Given the description of an element on the screen output the (x, y) to click on. 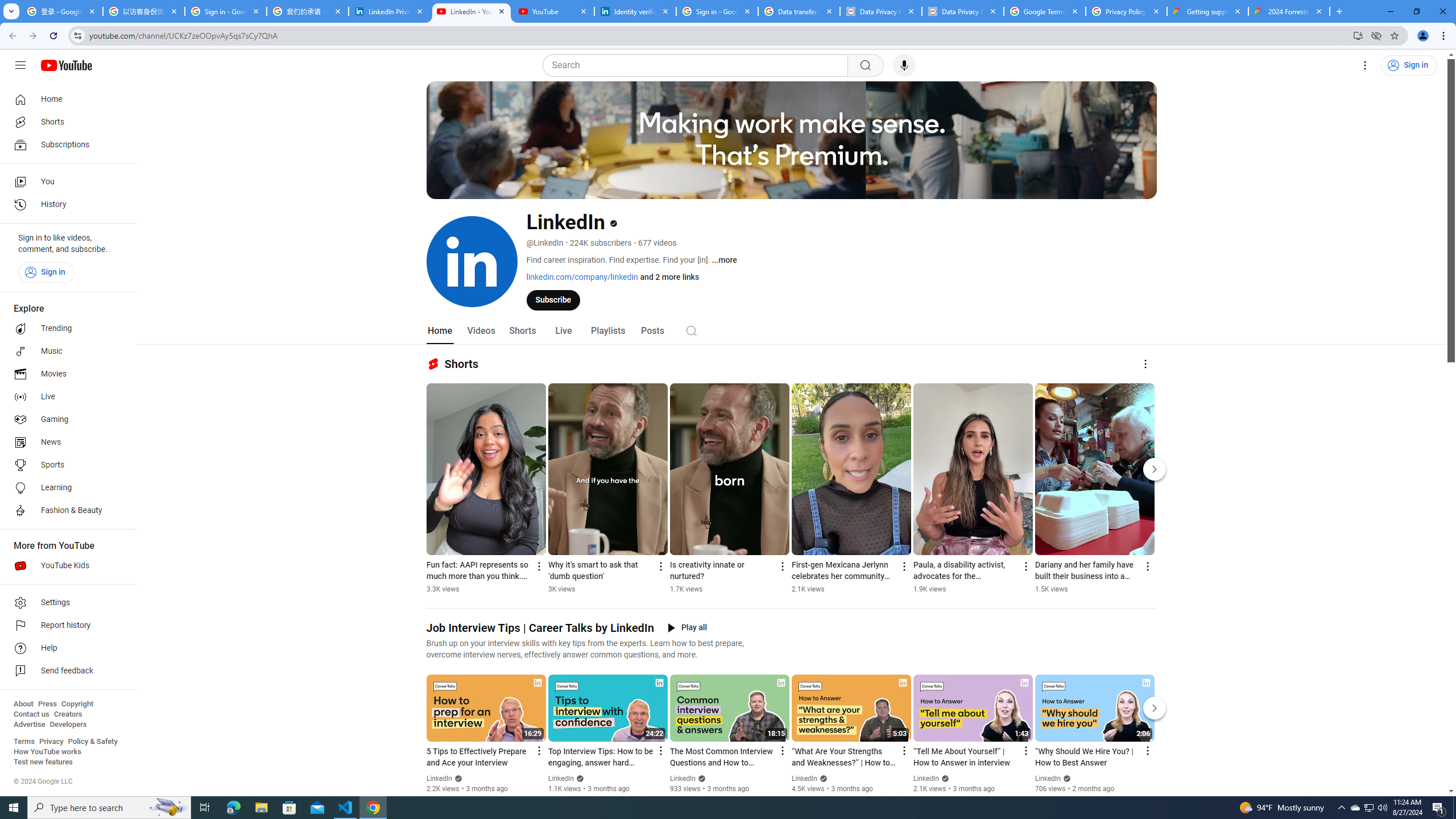
YouTube (552, 11)
Action menu (1146, 750)
Subscriptions (64, 144)
Verified (1065, 777)
More actions (1146, 566)
How YouTube works (47, 751)
Restore (1416, 11)
Sign in (45, 272)
Music (64, 350)
Job Interview Tips | Career Talks by LinkedIn (539, 627)
